Given the description of an element on the screen output the (x, y) to click on. 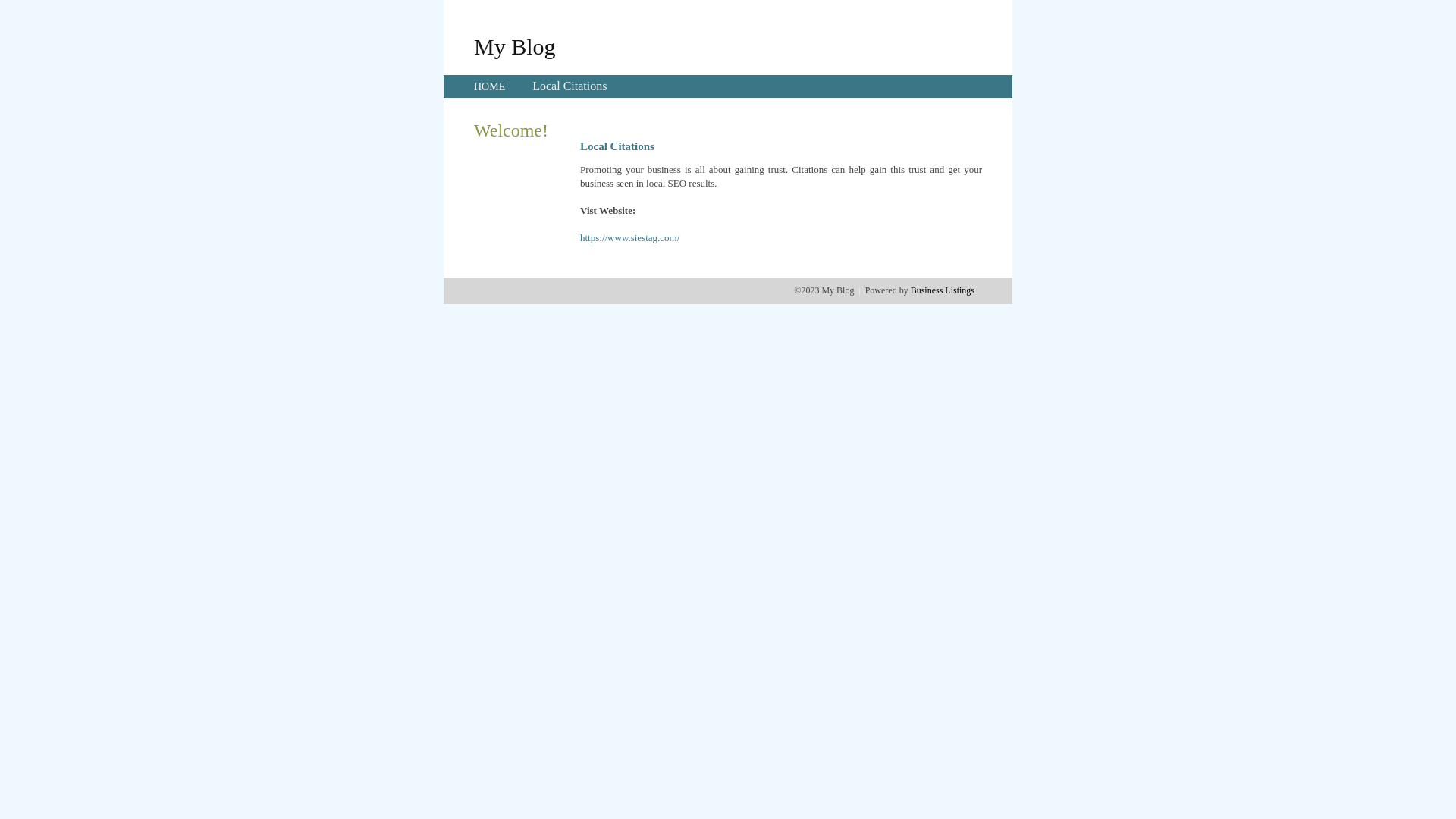
My Blog Element type: text (514, 46)
HOME Element type: text (489, 86)
Local Citations Element type: text (569, 85)
https://www.siestag.com/ Element type: text (629, 237)
Business Listings Element type: text (942, 290)
